Given the description of an element on the screen output the (x, y) to click on. 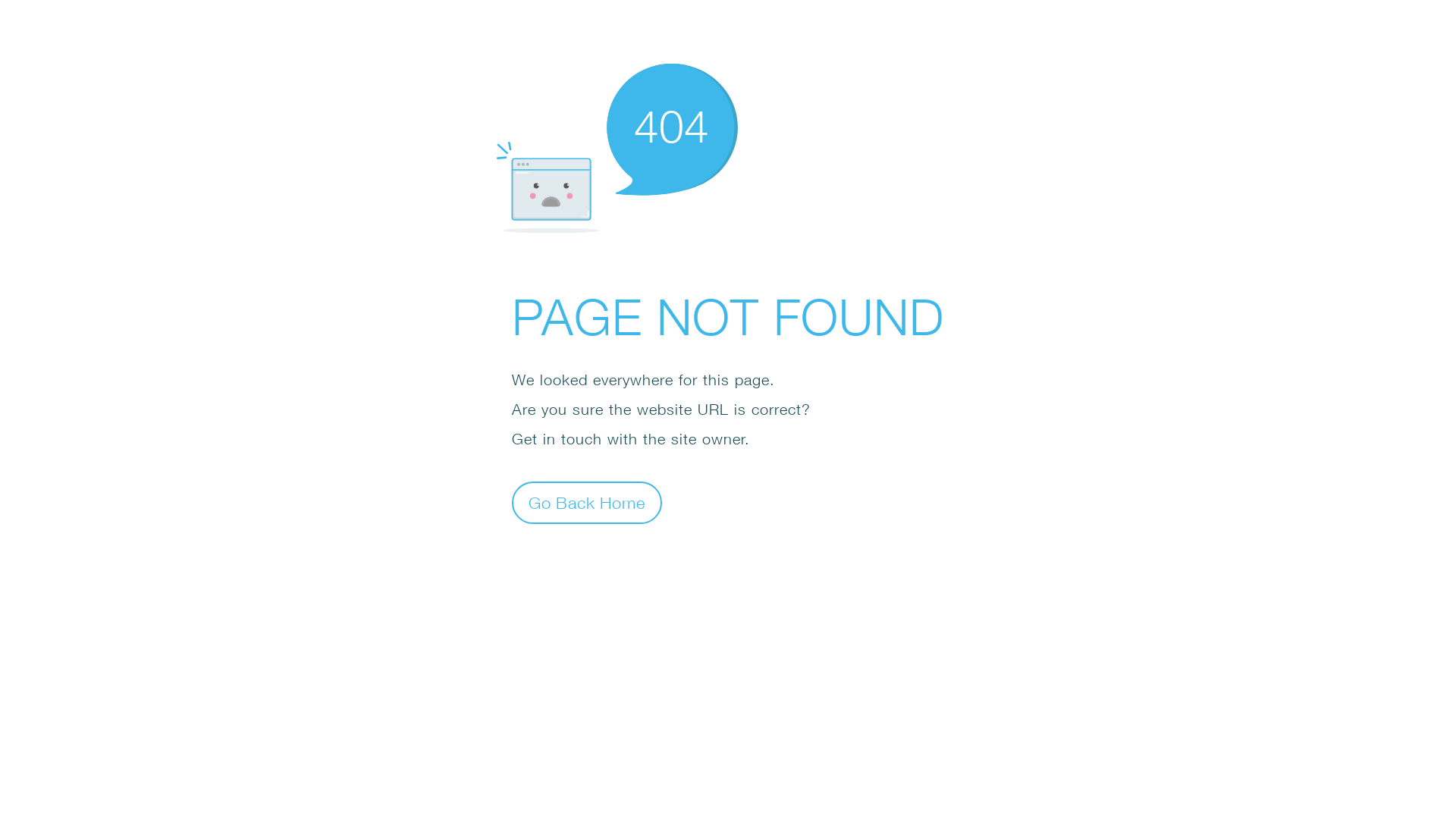
Go Back Home Element type: text (586, 502)
